Given the description of an element on the screen output the (x, y) to click on. 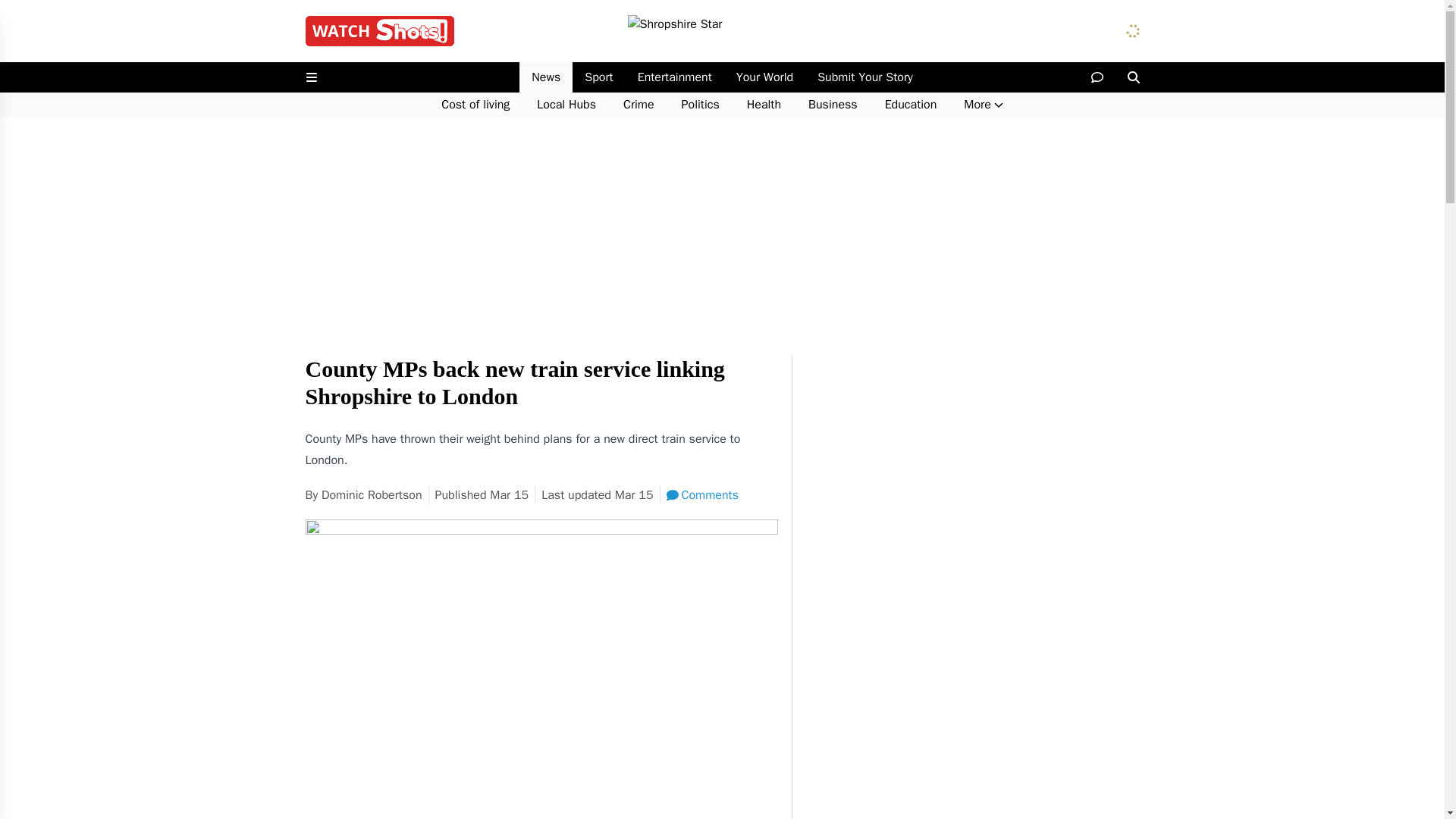
Politics (700, 104)
Your World (764, 77)
Local Hubs (566, 104)
Submit Your Story (864, 77)
Education (910, 104)
Dominic Robertson (371, 494)
Business (832, 104)
Health (764, 104)
Comments (702, 495)
Crime (638, 104)
